Given the description of an element on the screen output the (x, y) to click on. 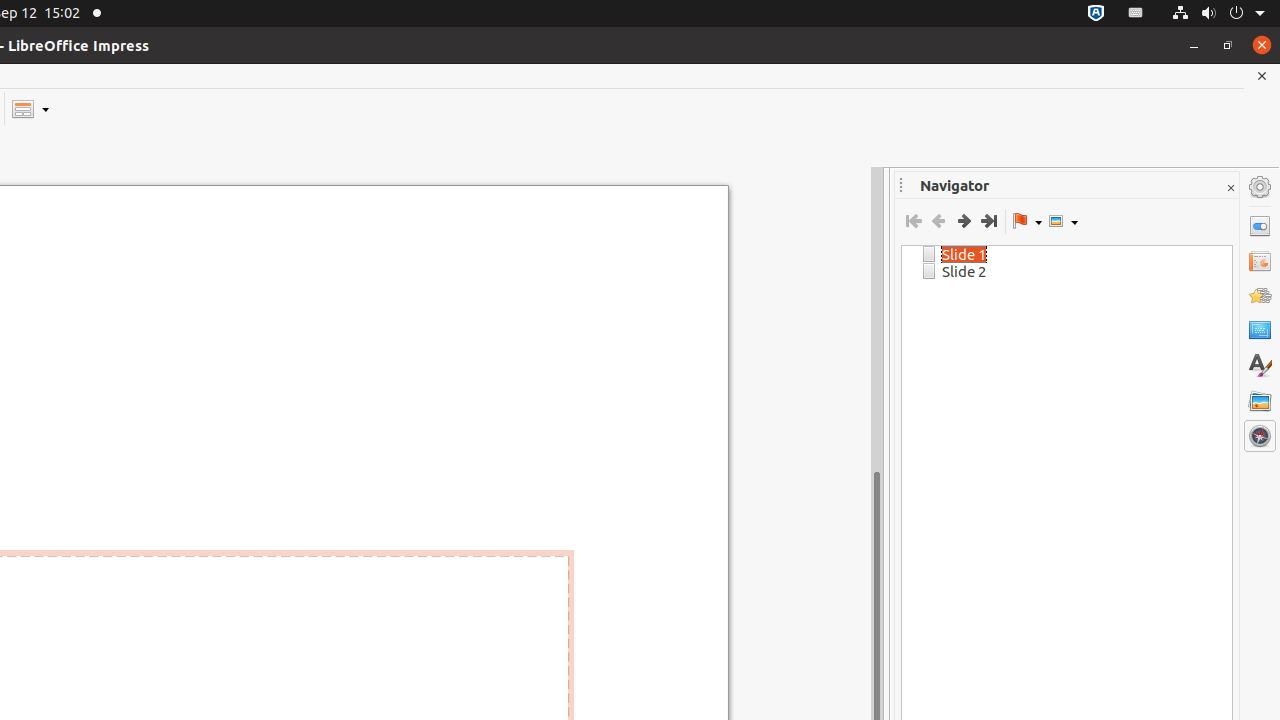
Gallery Element type: radio-button (1260, 401)
Drag Mode Element type: push-button (1027, 221)
